Given the description of an element on the screen output the (x, y) to click on. 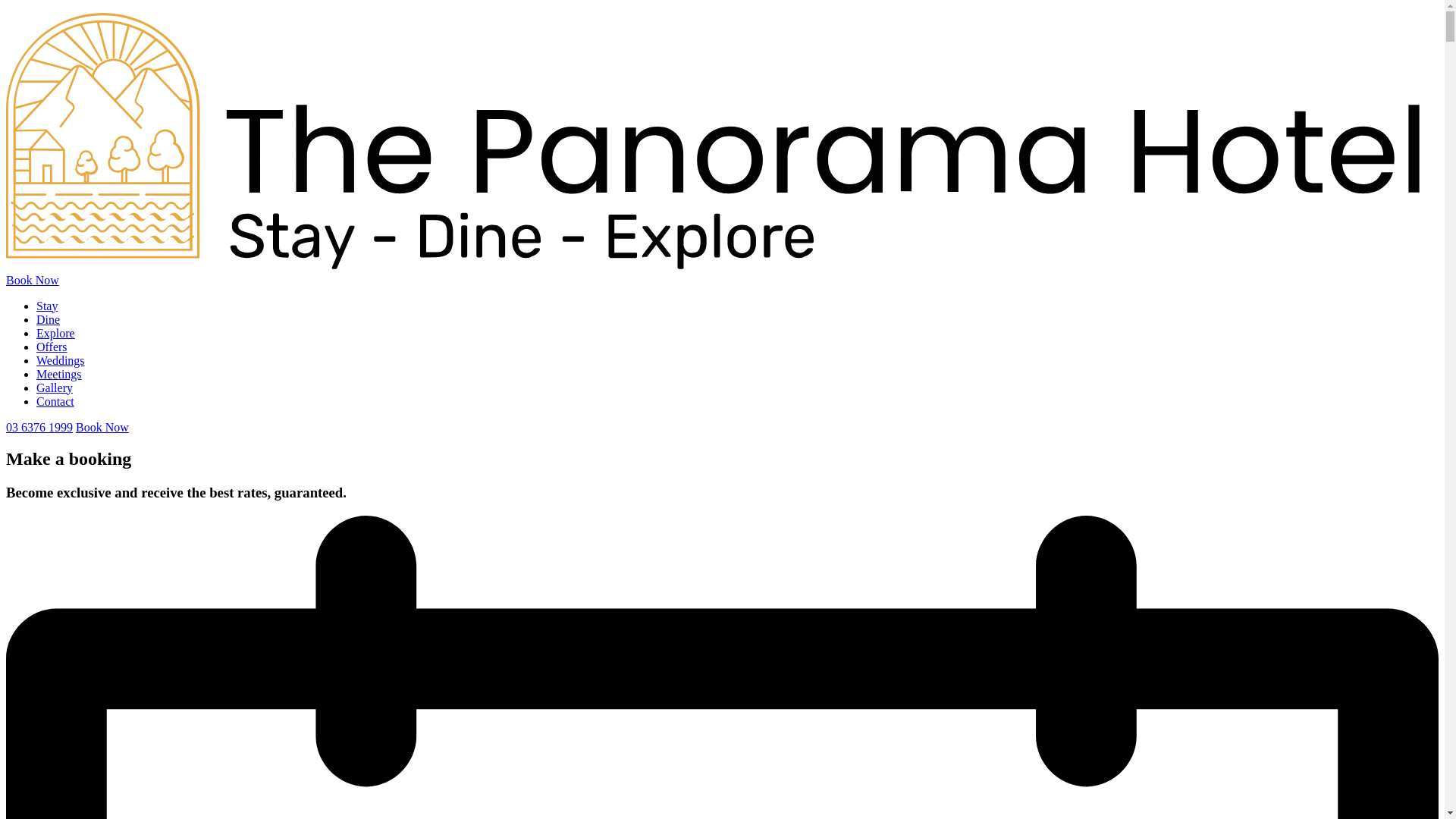
Call Us (38, 426)
Dine (47, 318)
Weddings (60, 359)
Meetings (58, 373)
Stay (47, 305)
03 6376 1999 (38, 426)
Gallery (54, 386)
Explore (55, 332)
Book Now (32, 278)
Book Now (102, 426)
Contact (55, 400)
Offers (51, 345)
